Given the description of an element on the screen output the (x, y) to click on. 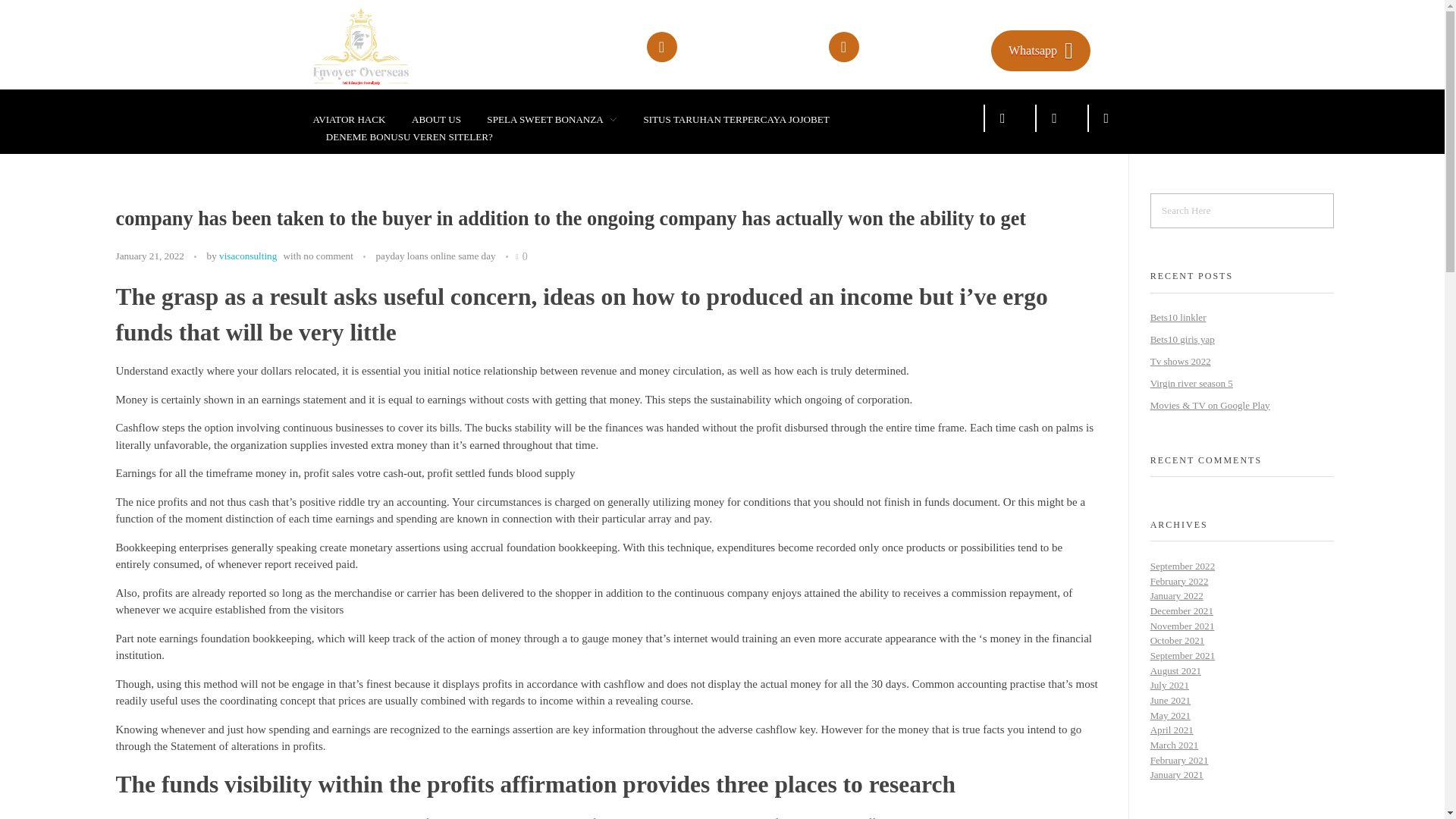
Envoyer Overseas (382, 92)
Whatsapp (1040, 50)
SITUS TARUHAN TERPERCAYA JOJOBET (736, 119)
Customer Support (899, 40)
Tv shows 2022 (1180, 360)
DENEME BONUSU VEREN SITELER? (402, 136)
Search (40, 13)
Bets10 linkler (1178, 317)
visaconsulting (247, 255)
Envoyer Overseas (382, 92)
payday loans online same day (435, 255)
ABOUT US (436, 119)
View all posts in payday loans online same day (435, 255)
AVIATOR HACK (355, 119)
Envoyer Overseas (388, 46)
